Given the description of an element on the screen output the (x, y) to click on. 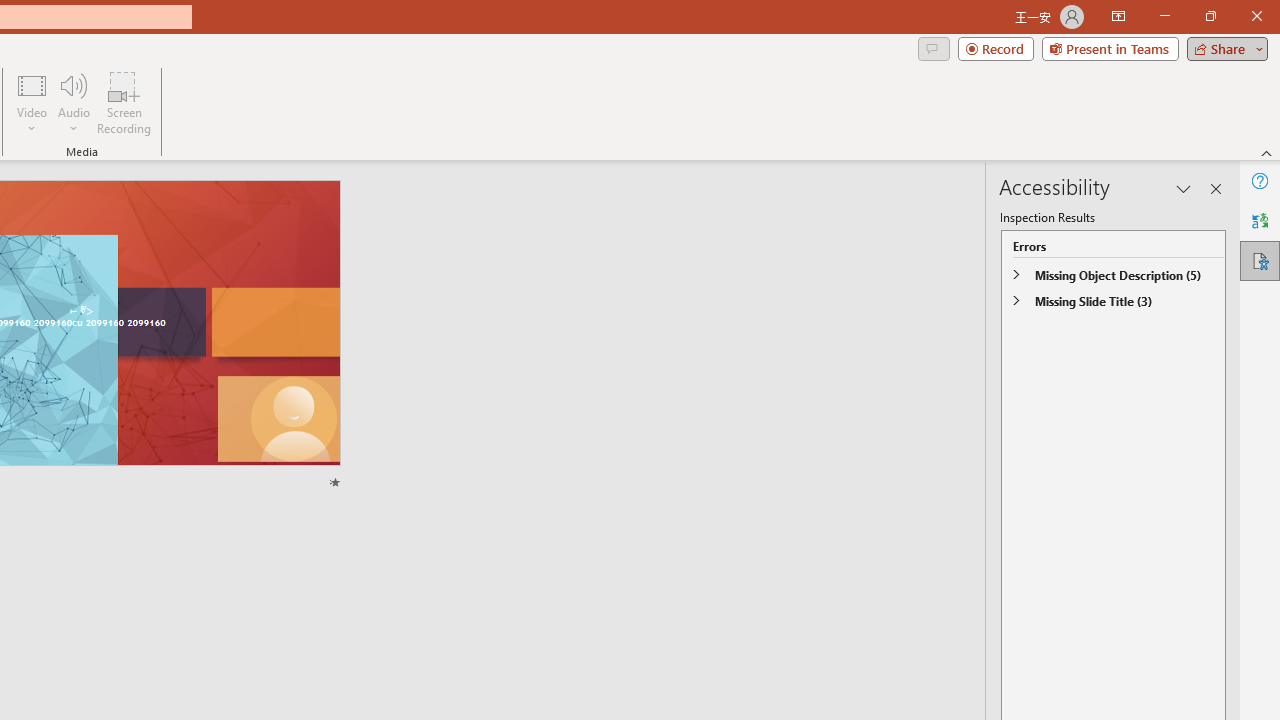
Audio (73, 102)
